Given the description of an element on the screen output the (x, y) to click on. 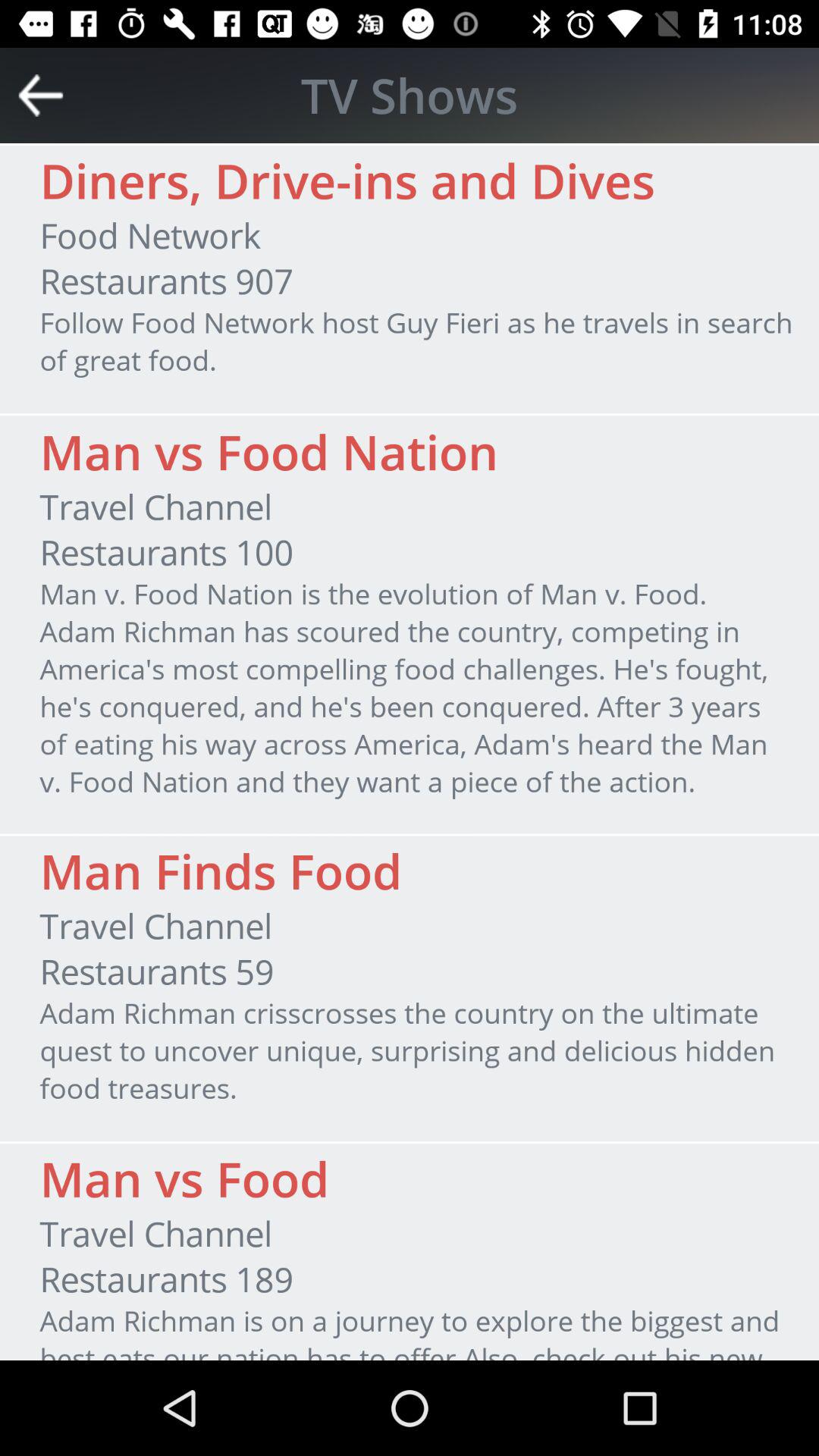
turn on the item below food network (166, 280)
